Given the description of an element on the screen output the (x, y) to click on. 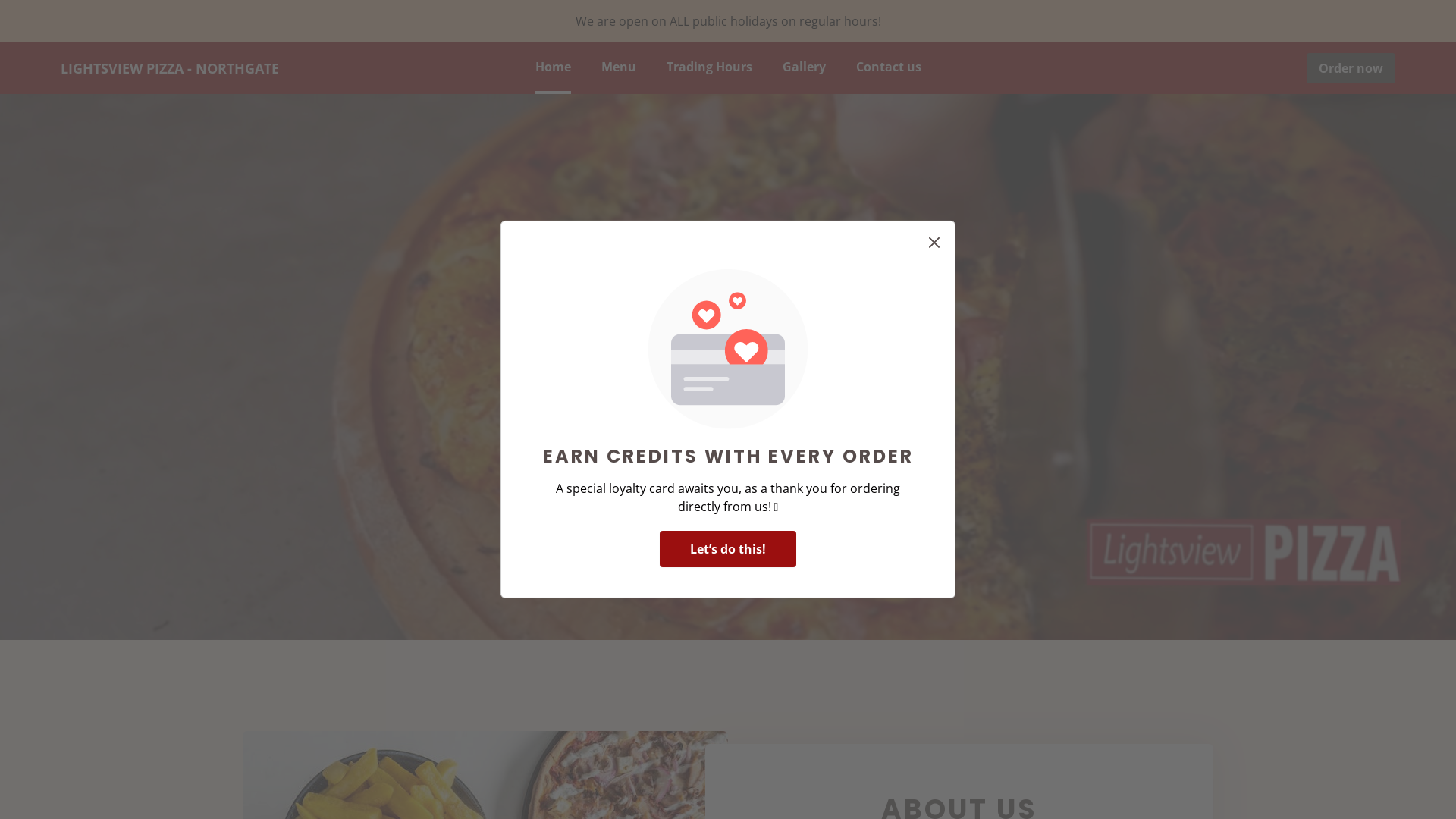
Gallery Element type: text (803, 68)
Order now Element type: text (1350, 68)
LIGHTSVIEW PIZZA - NORTHGATE Element type: text (169, 67)
Contact us Element type: text (887, 68)
Home Element type: text (553, 68)
Trading Hours Element type: text (708, 68)
Order now Element type: text (727, 406)
Menu Element type: text (617, 68)
